Given the description of an element on the screen output the (x, y) to click on. 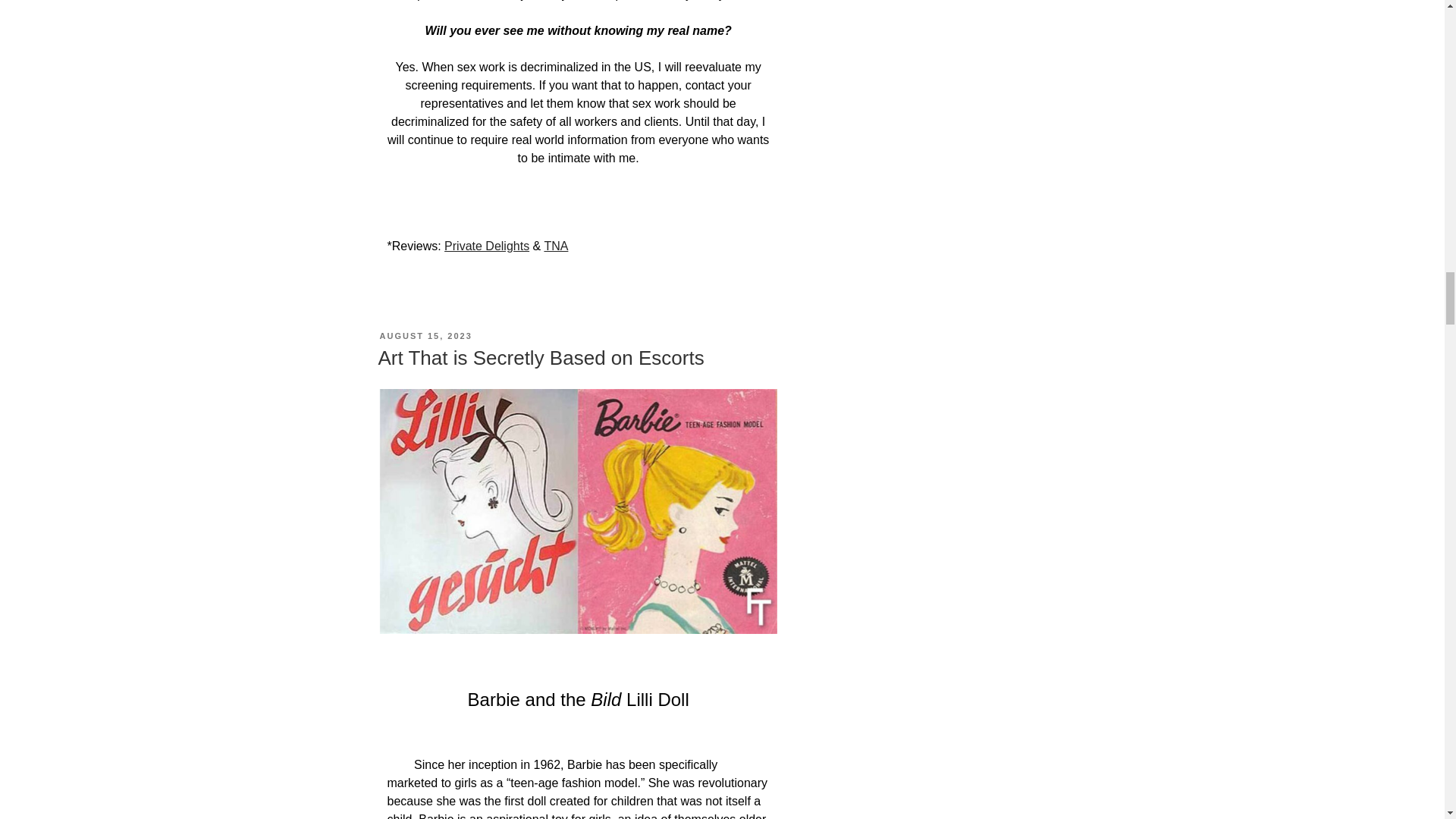
AUGUST 15, 2023 (424, 335)
Art That is Secretly Based on Escorts (540, 357)
TNA (555, 245)
Private Delights (486, 245)
